Given the description of an element on the screen output the (x, y) to click on. 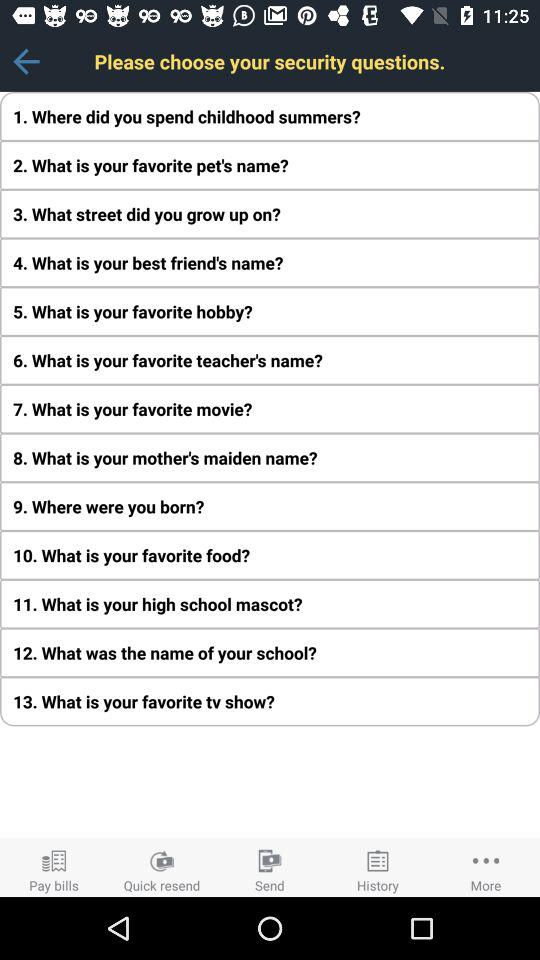
launch app next to please choose your app (26, 61)
